Given the description of an element on the screen output the (x, y) to click on. 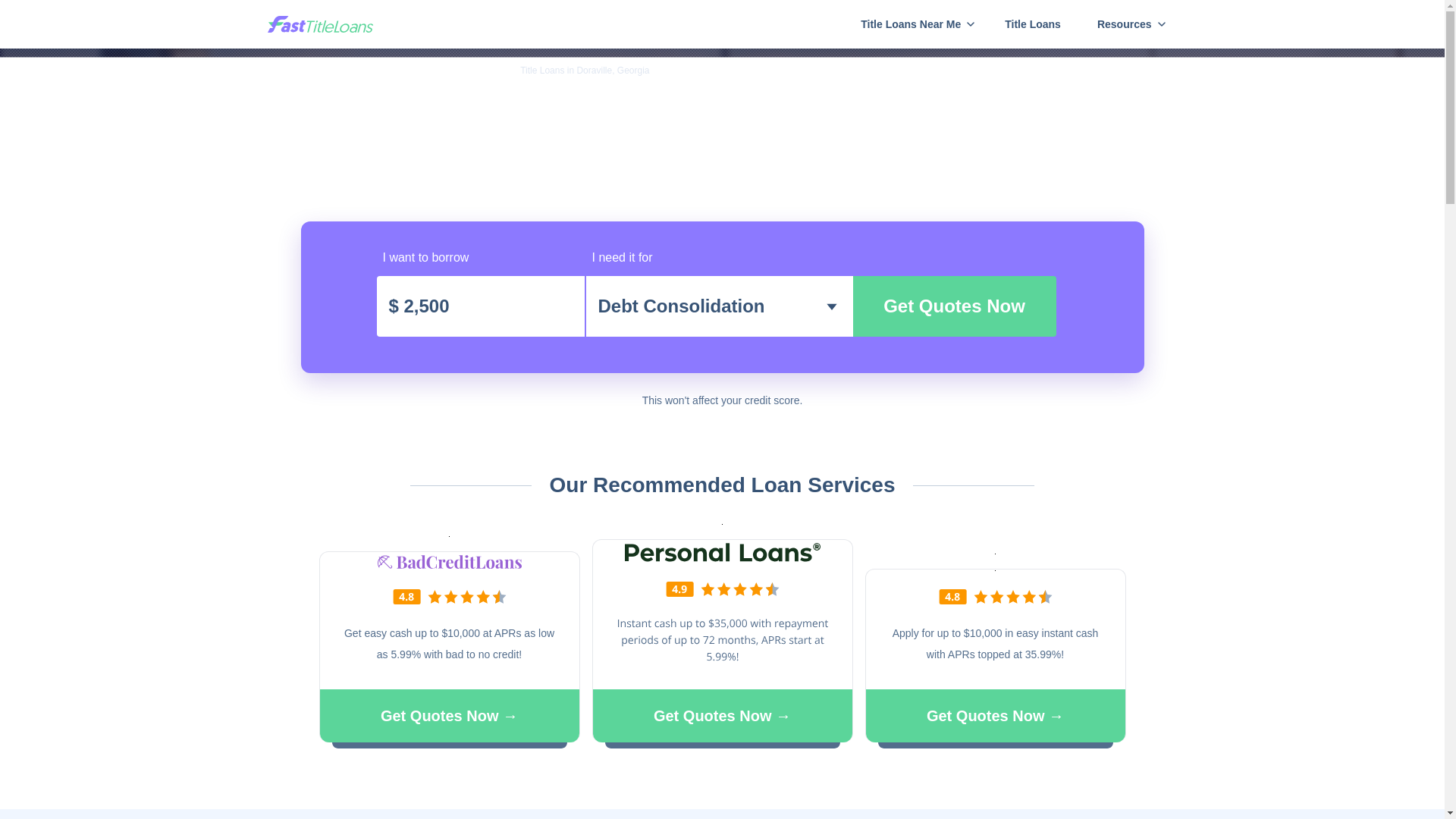
Title Loans (334, 70)
2,500 (479, 306)
Title Loans (1032, 24)
